Given the description of an element on the screen output the (x, y) to click on. 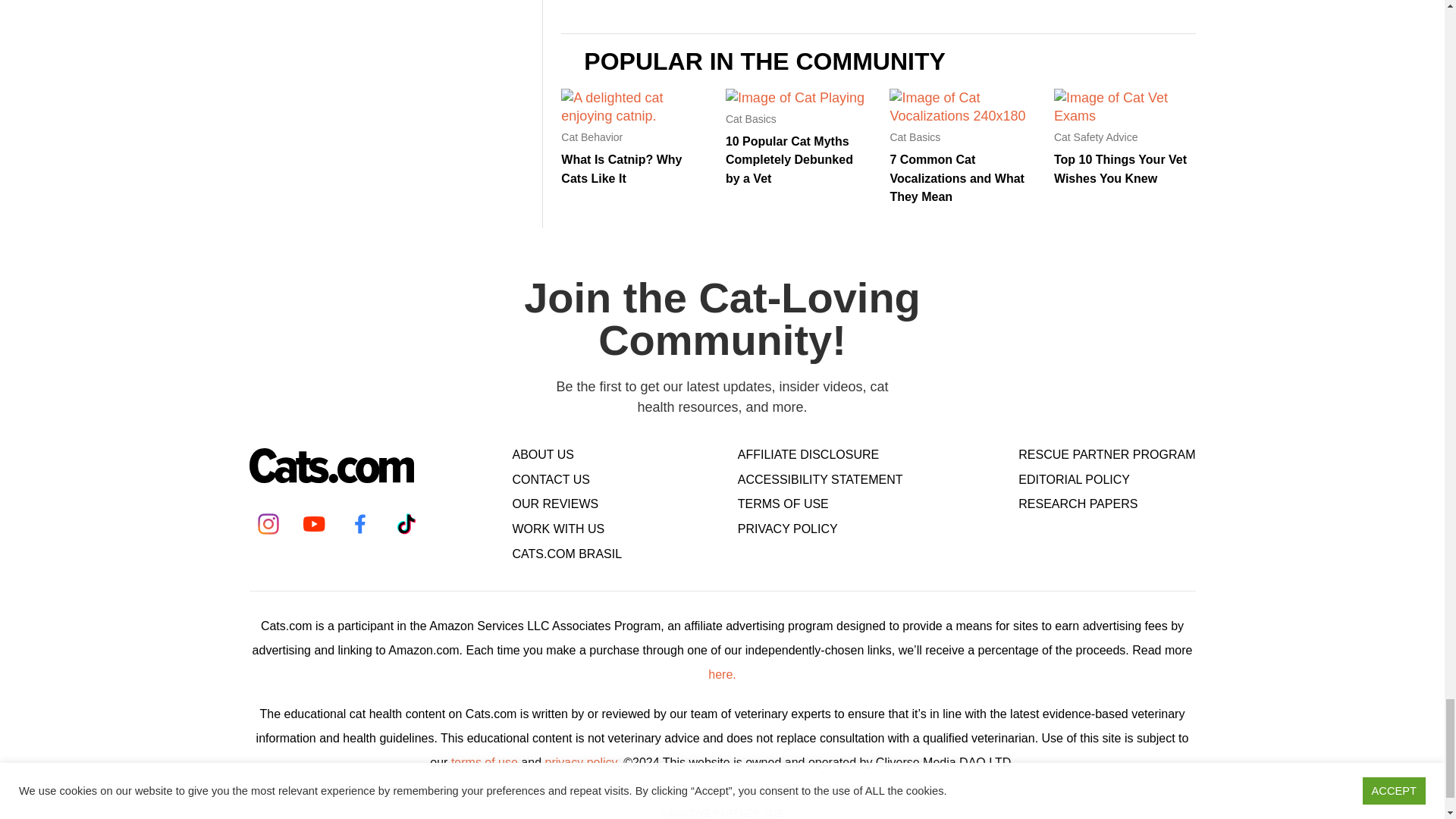
What Is Catnip? Why Cats Like It (631, 115)
What Is Catnip? Why Cats Like It (620, 168)
